Given the description of an element on the screen output the (x, y) to click on. 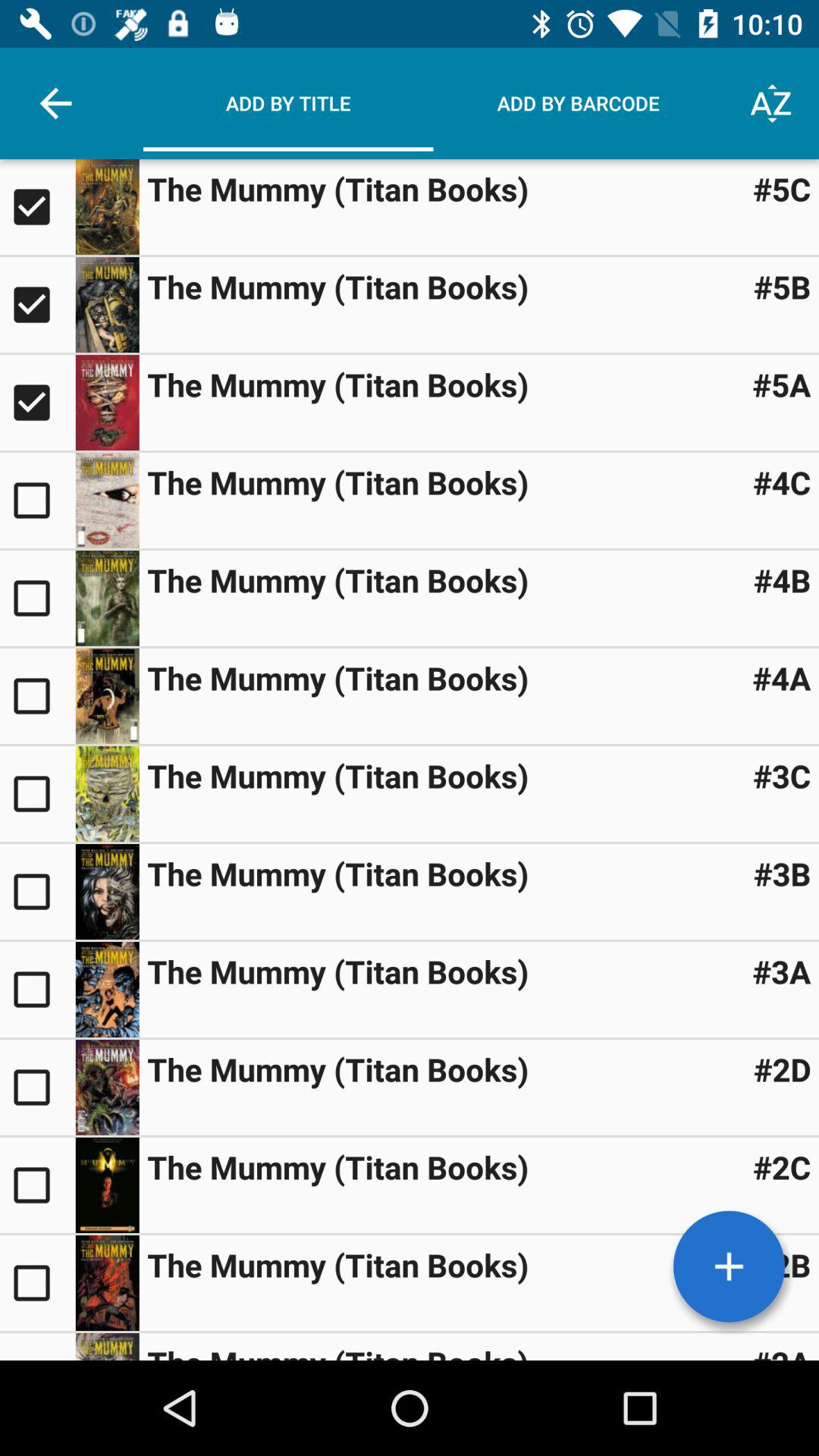
select title (37, 304)
